Given the description of an element on the screen output the (x, y) to click on. 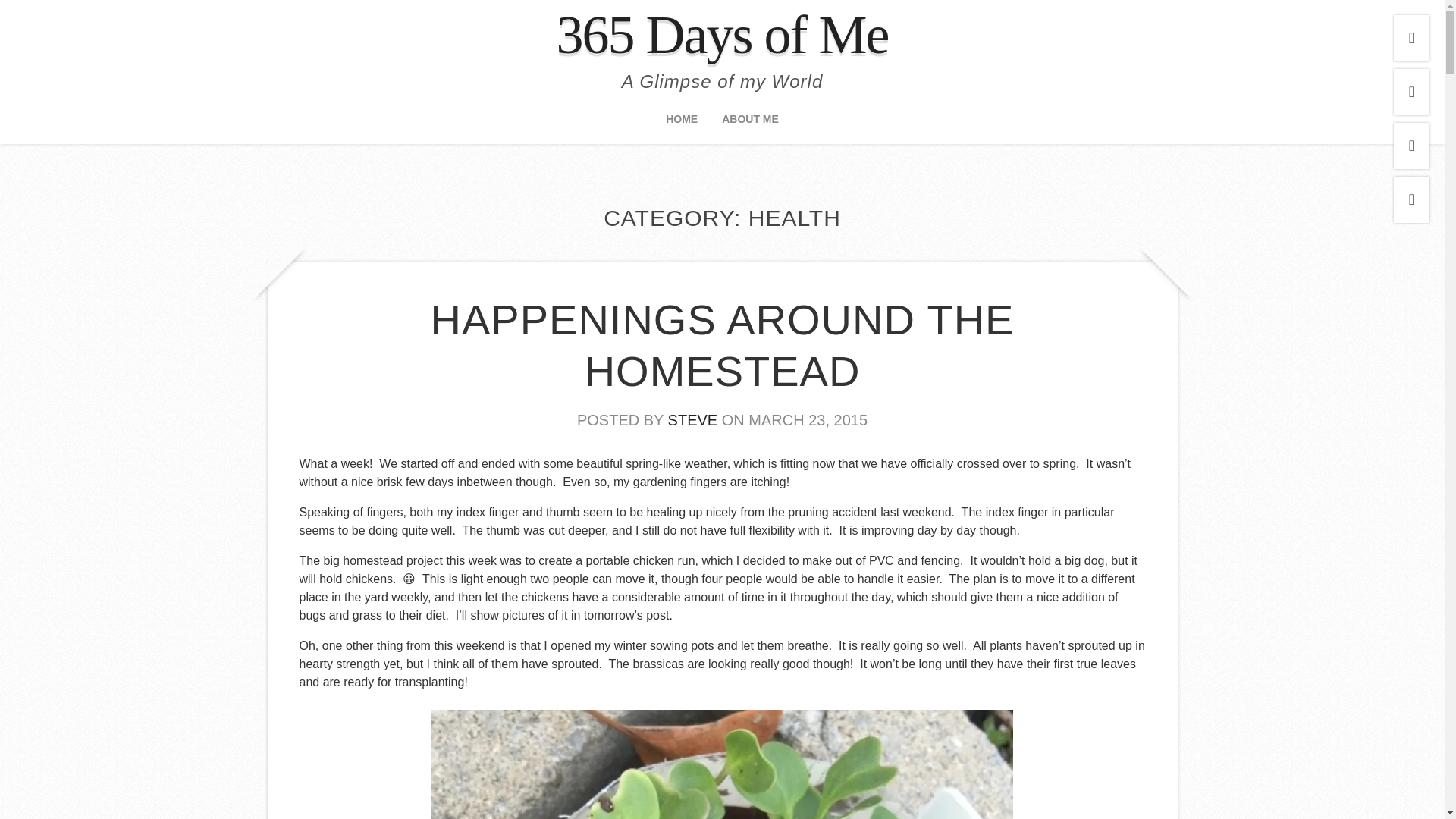
STEVE (692, 420)
365 Days of Me (722, 35)
ABOUT ME (750, 123)
365 Days of Me (722, 35)
HOME (681, 123)
HAPPENINGS AROUND THE HOMESTEAD (722, 345)
